Given the description of an element on the screen output the (x, y) to click on. 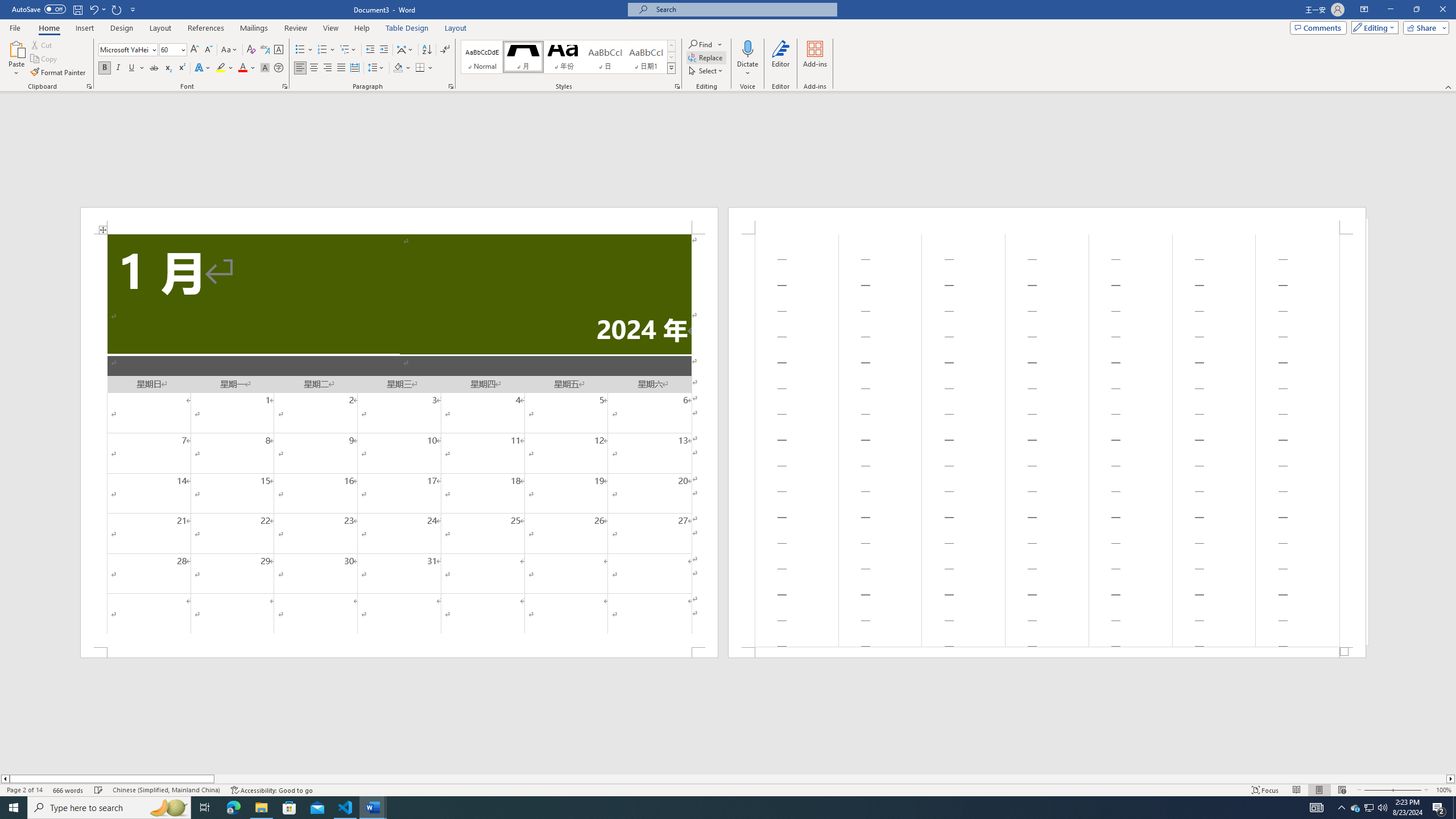
Spelling and Grammar Check Checking (98, 790)
Strikethrough (154, 67)
Bold (104, 67)
Numbering (322, 49)
File Tab (15, 27)
Zoom In (1407, 790)
Open (182, 49)
Find (700, 44)
Table Design (407, 28)
Italic (118, 67)
Grow Font (193, 49)
Class: NetUIImage (671, 68)
Repeat Doc Close (117, 9)
Office Clipboard... (88, 85)
